Given the description of an element on the screen output the (x, y) to click on. 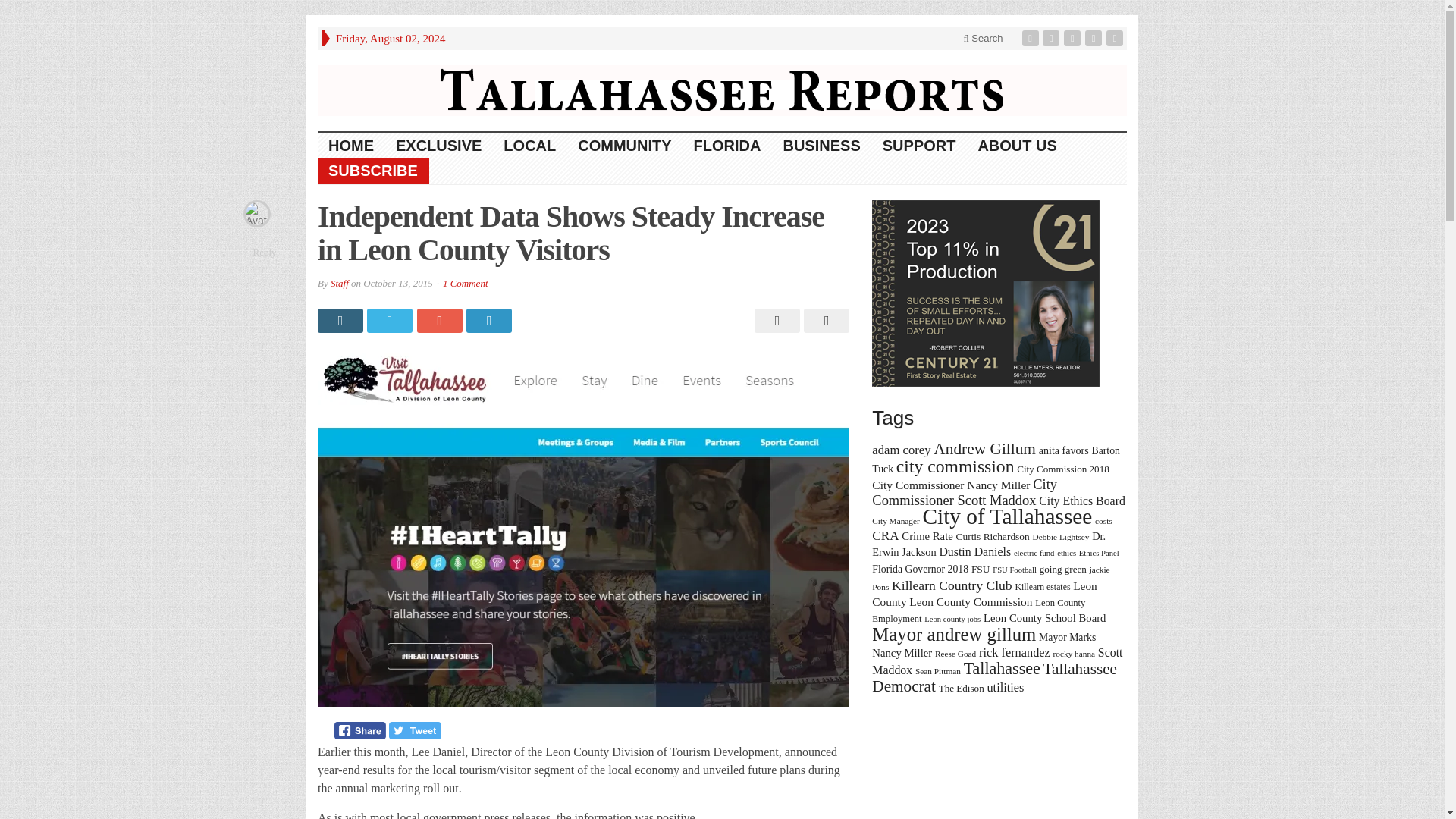
BUSINESS (820, 145)
LOCAL (530, 145)
EXCLUSIVE (439, 145)
Youtube (1094, 37)
COMMUNITY (624, 145)
ABOUT US (1016, 145)
Site feed (1115, 37)
Search (982, 37)
HOME (351, 145)
